Given the description of an element on the screen output the (x, y) to click on. 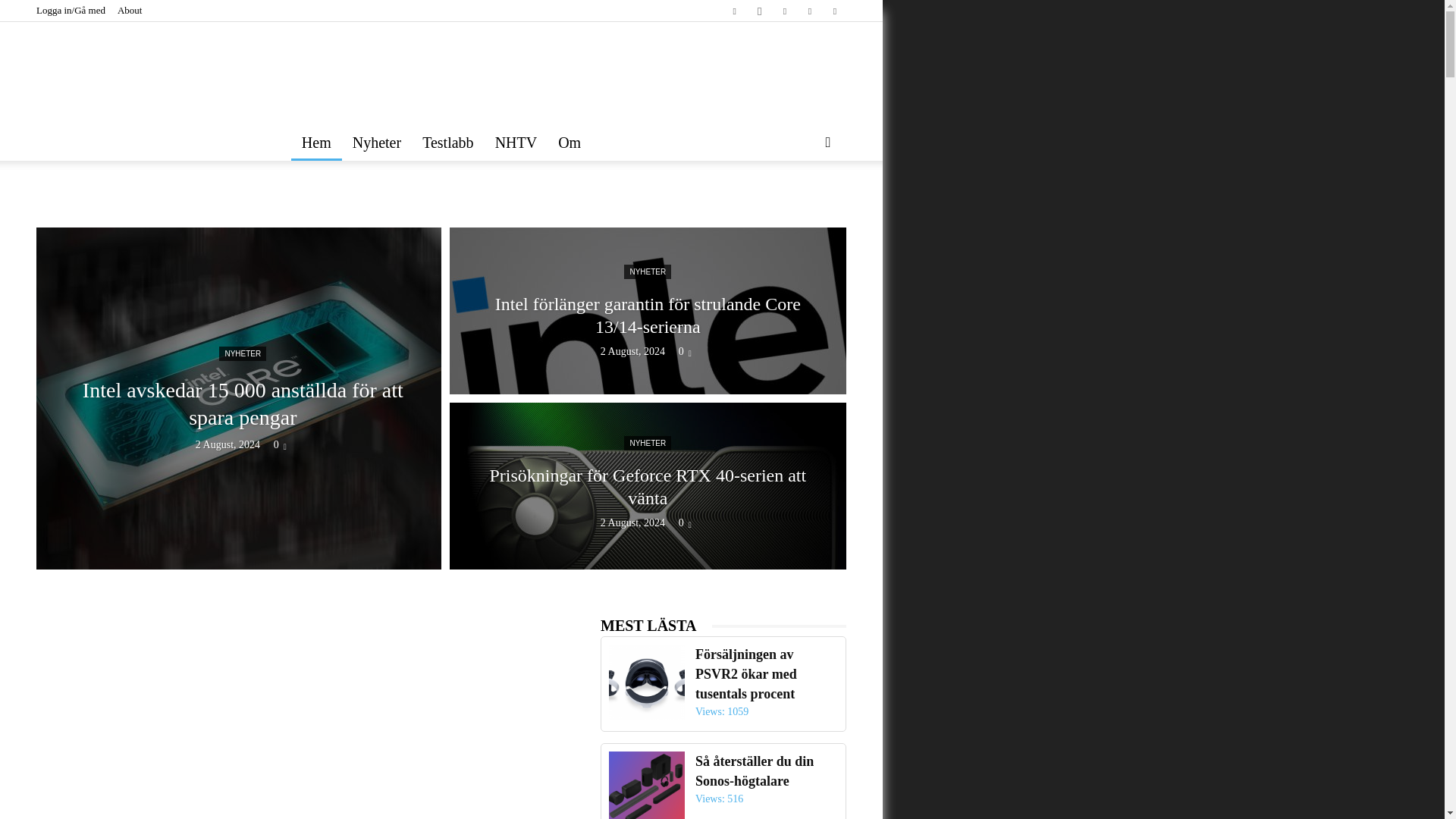
Nyheter (377, 142)
Instagram (759, 10)
About (129, 9)
Nyheter och tester av datorer och komponenter (440, 76)
RSS (784, 10)
Twitter (809, 10)
Facebook (734, 10)
Youtube (834, 10)
Nordichardware (441, 72)
Hem (316, 142)
